Given the description of an element on the screen output the (x, y) to click on. 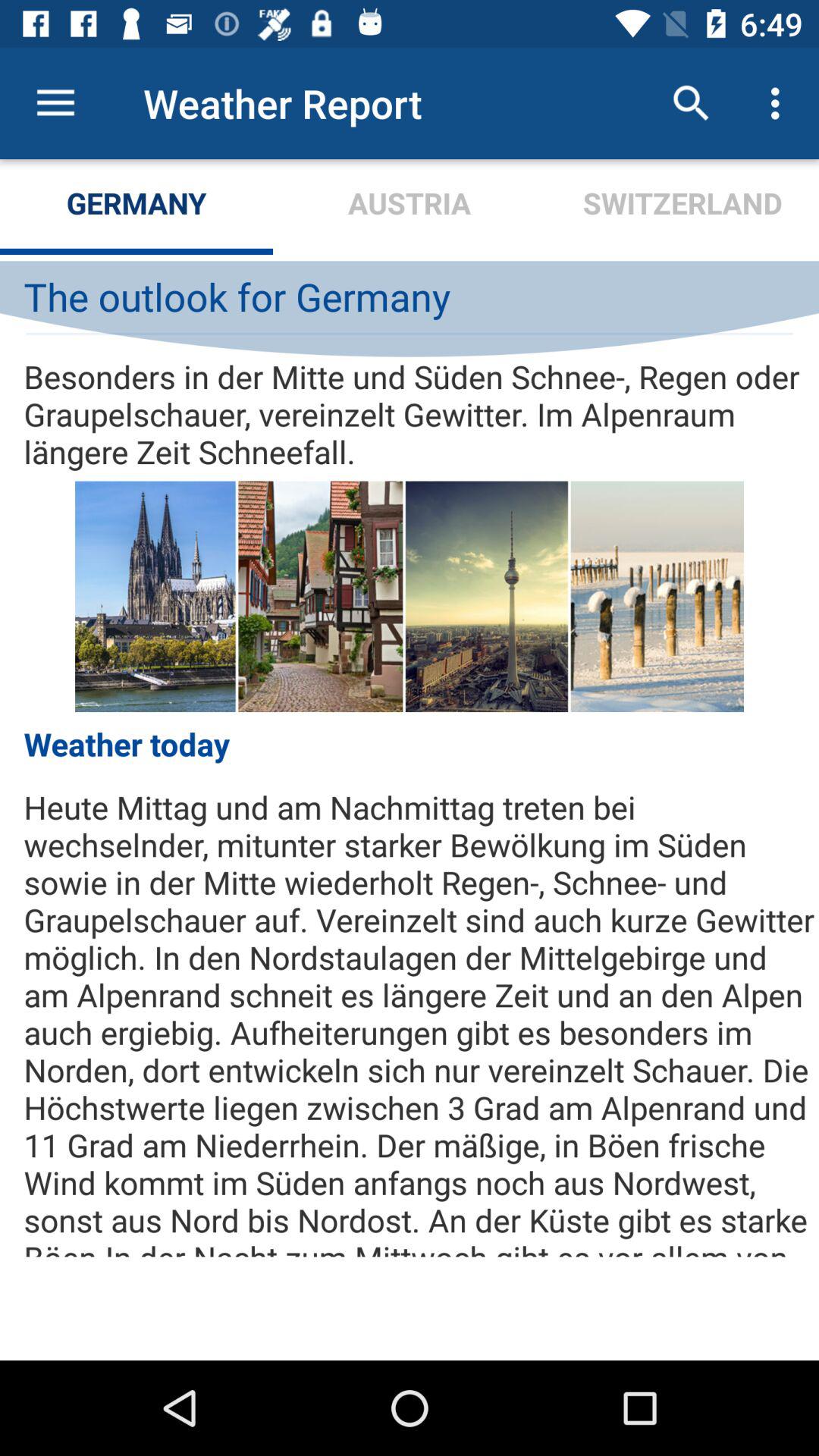
choose the icon next to austria (691, 103)
